Given the description of an element on the screen output the (x, y) to click on. 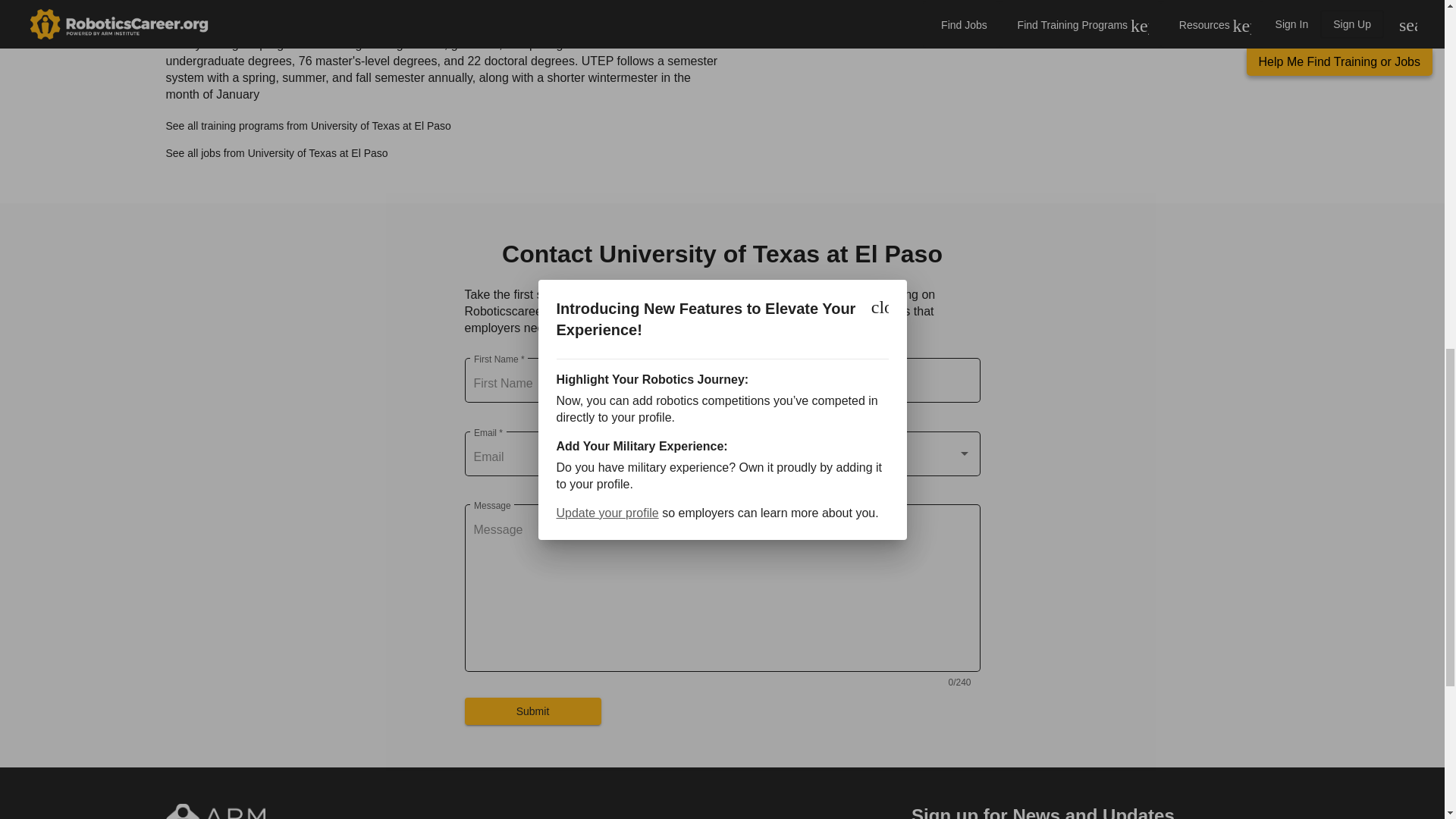
Submit (531, 710)
See all jobs from University of Texas at El Paso (276, 153)
